Given the description of an element on the screen output the (x, y) to click on. 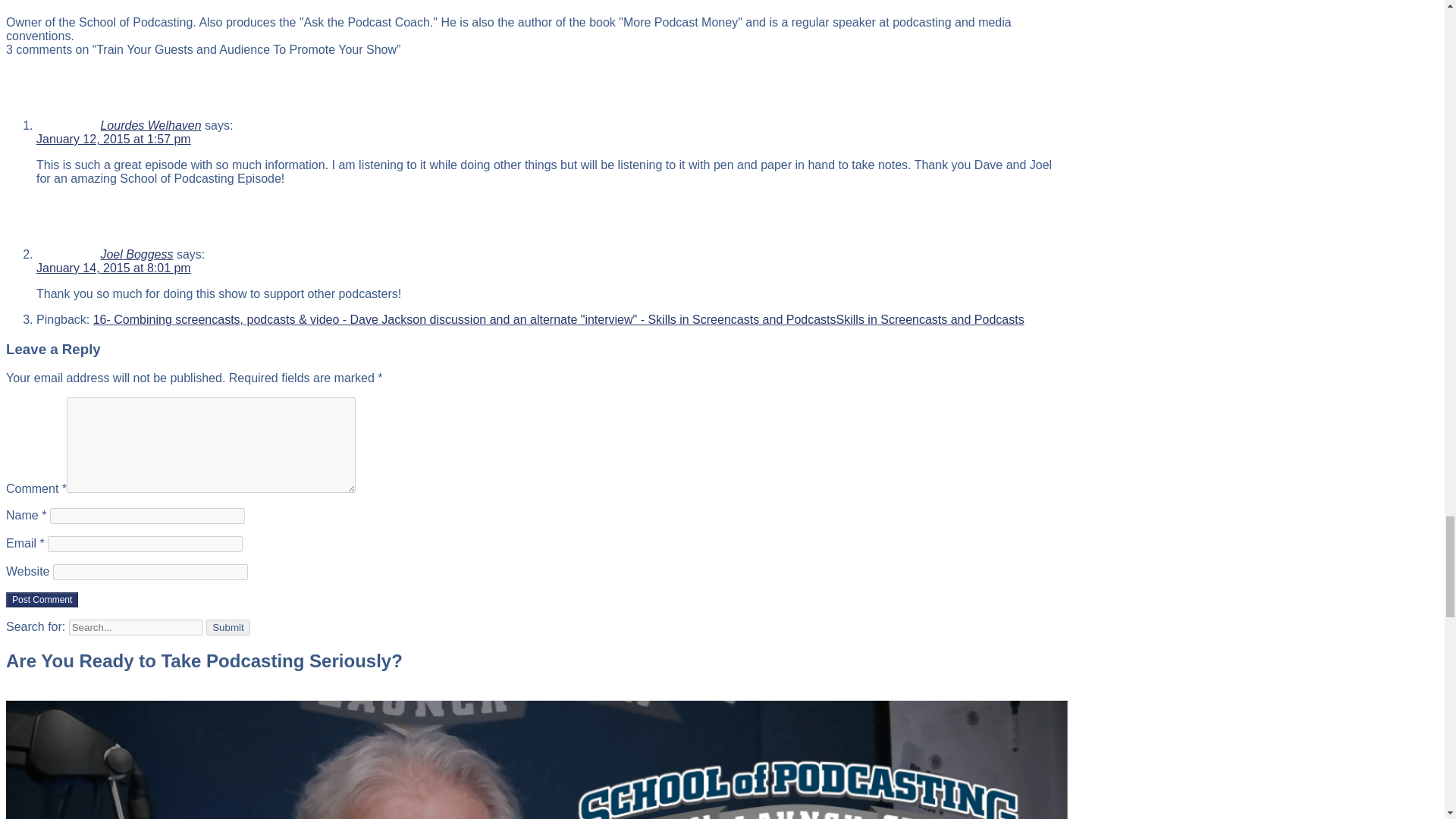
Post Comment (41, 599)
Submit (227, 627)
Submit (227, 627)
